Given the description of an element on the screen output the (x, y) to click on. 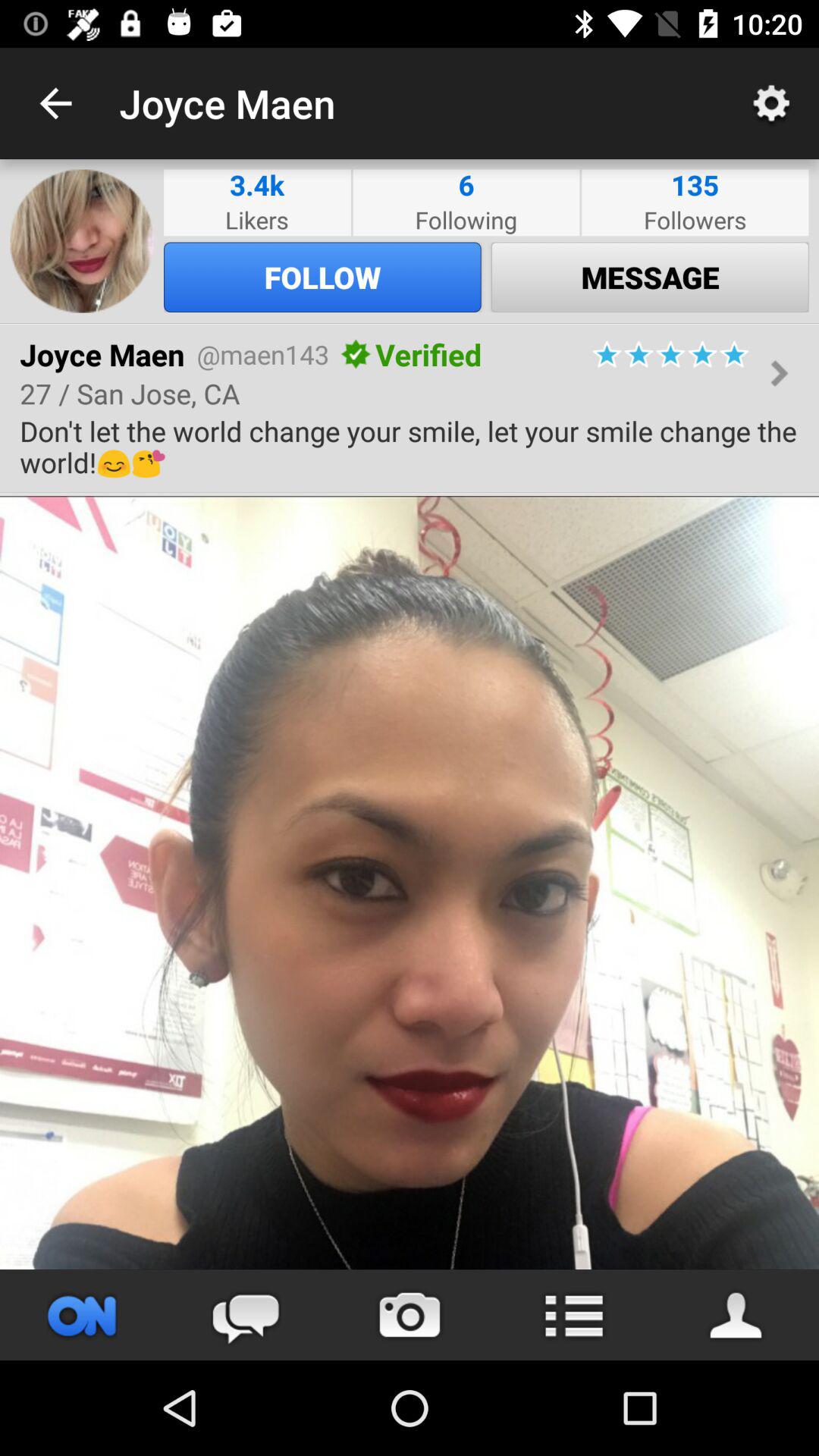
launch the icon to the left of follow item (81, 240)
